Given the description of an element on the screen output the (x, y) to click on. 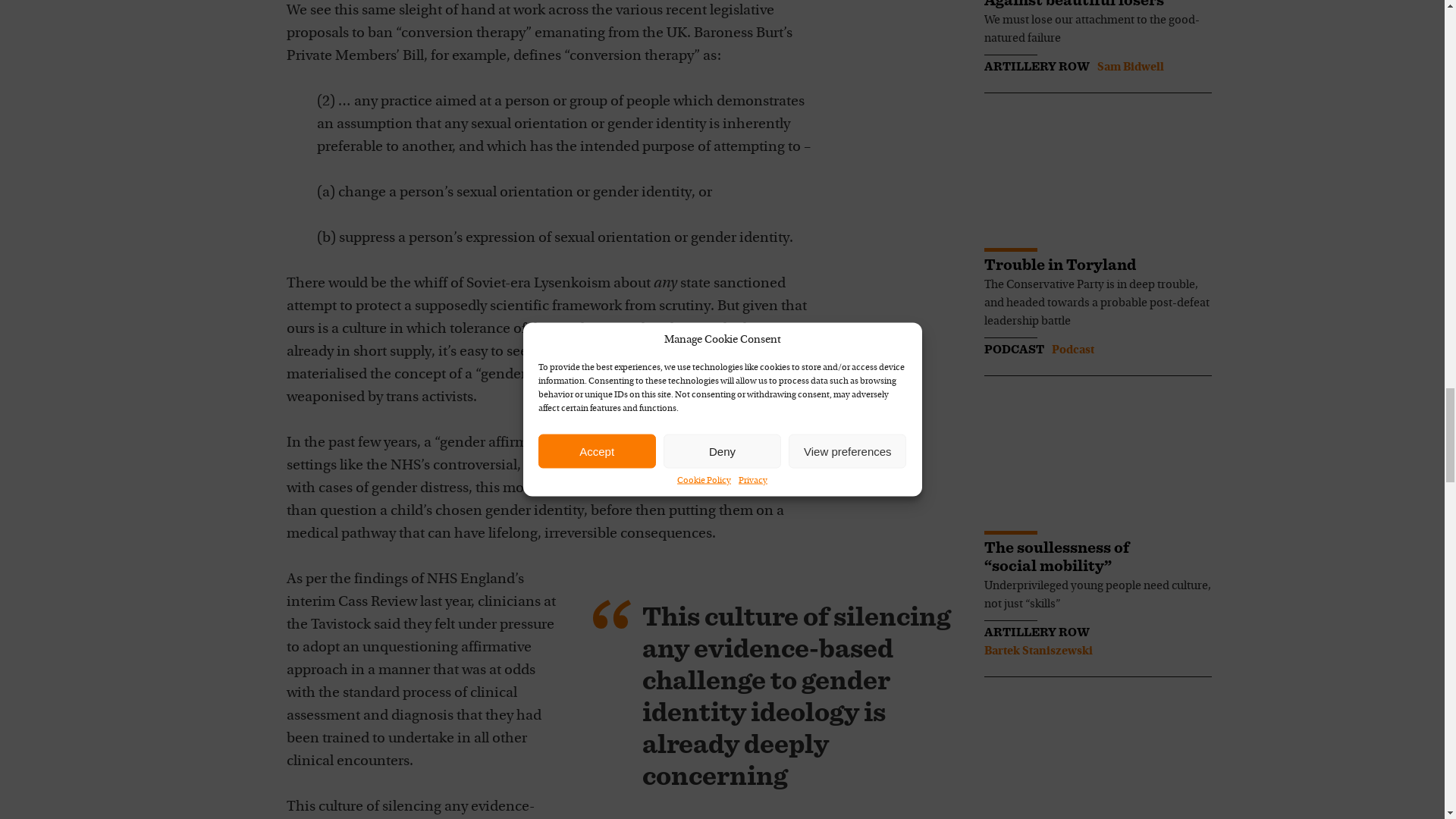
Posts by Bartek Staniszewski (1038, 651)
Posts by Podcast (1072, 349)
Posts by Sam Bidwell (1129, 67)
